Given the description of an element on the screen output the (x, y) to click on. 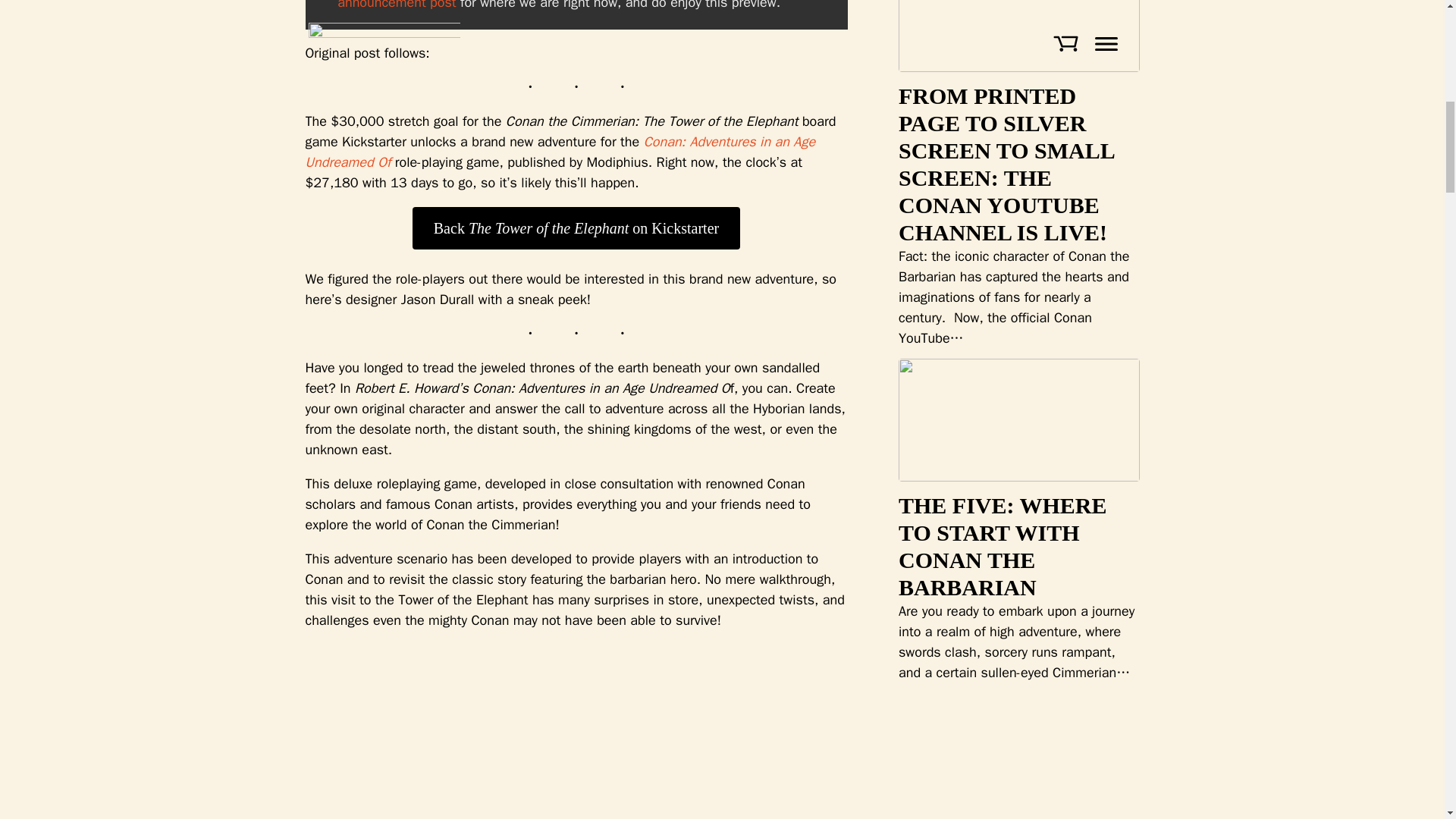
Take a peek at The Wings of Yag 1 (557, 731)
THE FIVE: WHERE TO START WITH CONAN THE BARBARIAN (1002, 546)
See the Kickstarter announcement post (553, 5)
Conan: Adventures in an Age Undreamed Of (559, 151)
Back The Tower of the Elephant on Kickstarter (575, 228)
